Given the description of an element on the screen output the (x, y) to click on. 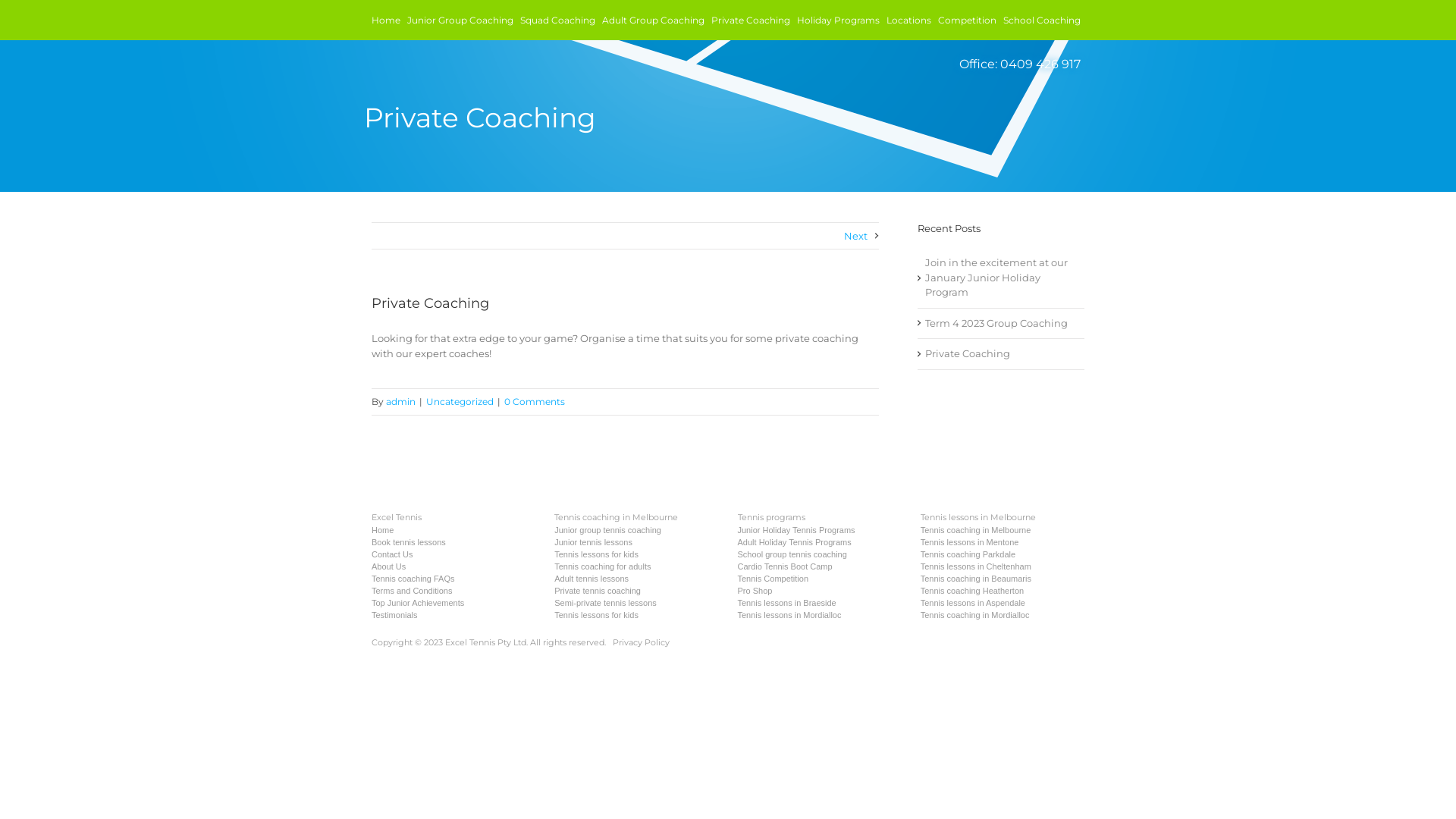
Uncategorized Element type: text (459, 401)
Tennis coaching in Melbourne Element type: text (975, 529)
Holiday Programs Element type: text (838, 20)
Tennis lessons in Braeside Element type: text (786, 602)
Junior group tennis coaching Element type: text (607, 529)
Book tennis lessons Element type: text (408, 541)
Tennis lessons in Mentone Element type: text (969, 541)
Tennis lessons for kids Element type: text (596, 614)
Tennis coaching in Beaumaris Element type: text (975, 578)
Private Coaching Element type: text (1000, 354)
Tennis coaching FAQs Element type: text (412, 578)
Private Coaching Element type: text (430, 302)
Privacy Policy Element type: text (640, 642)
0 Comments Element type: text (534, 401)
Private tennis coaching Element type: text (597, 590)
Tennis lessons in Cheltenham Element type: text (975, 566)
School group tennis coaching Element type: text (791, 553)
Private Coaching Element type: text (750, 20)
Semi-private tennis lessons Element type: text (605, 602)
Adult Group Coaching Element type: text (653, 20)
Squad Coaching Element type: text (557, 20)
Top Junior Achievements Element type: text (417, 602)
Tennis lessons in Mordialloc Element type: text (788, 614)
Home Element type: text (382, 529)
Tennis lessons in Aspendale Element type: text (972, 602)
Testimonials Element type: text (394, 614)
Tennis Competition Element type: text (772, 578)
Adult tennis lessons Element type: text (591, 578)
About Us Element type: text (388, 566)
Next Element type: text (861, 235)
Terms and Conditions Element type: text (411, 590)
Cardio Tennis Boot Camp Element type: text (784, 566)
Tennis coaching Parkdale Element type: text (967, 553)
Junior Group Coaching Element type: text (460, 20)
Junior tennis lessons Element type: text (593, 541)
Term 4 2023 Group Coaching Element type: text (1000, 322)
School Coaching Element type: text (1041, 20)
Home Element type: text (385, 20)
admin Element type: text (400, 401)
Tennis coaching Heatherton Element type: text (971, 590)
Junior Holiday Tennis Programs Element type: text (795, 529)
Locations Element type: text (908, 20)
Tennis coaching for adults Element type: text (602, 566)
0409 426 917 Element type: text (1040, 63)
Join in the excitement at our January Junior Holiday Program Element type: text (1000, 277)
Contact Us Element type: text (391, 553)
Tennis lessons for kids Element type: text (596, 553)
Tennis coaching in Mordialloc Element type: text (974, 614)
Adult Holiday Tennis Programs Element type: text (793, 541)
Competition Element type: text (967, 20)
Pro Shop Element type: text (754, 590)
